Given the description of an element on the screen output the (x, y) to click on. 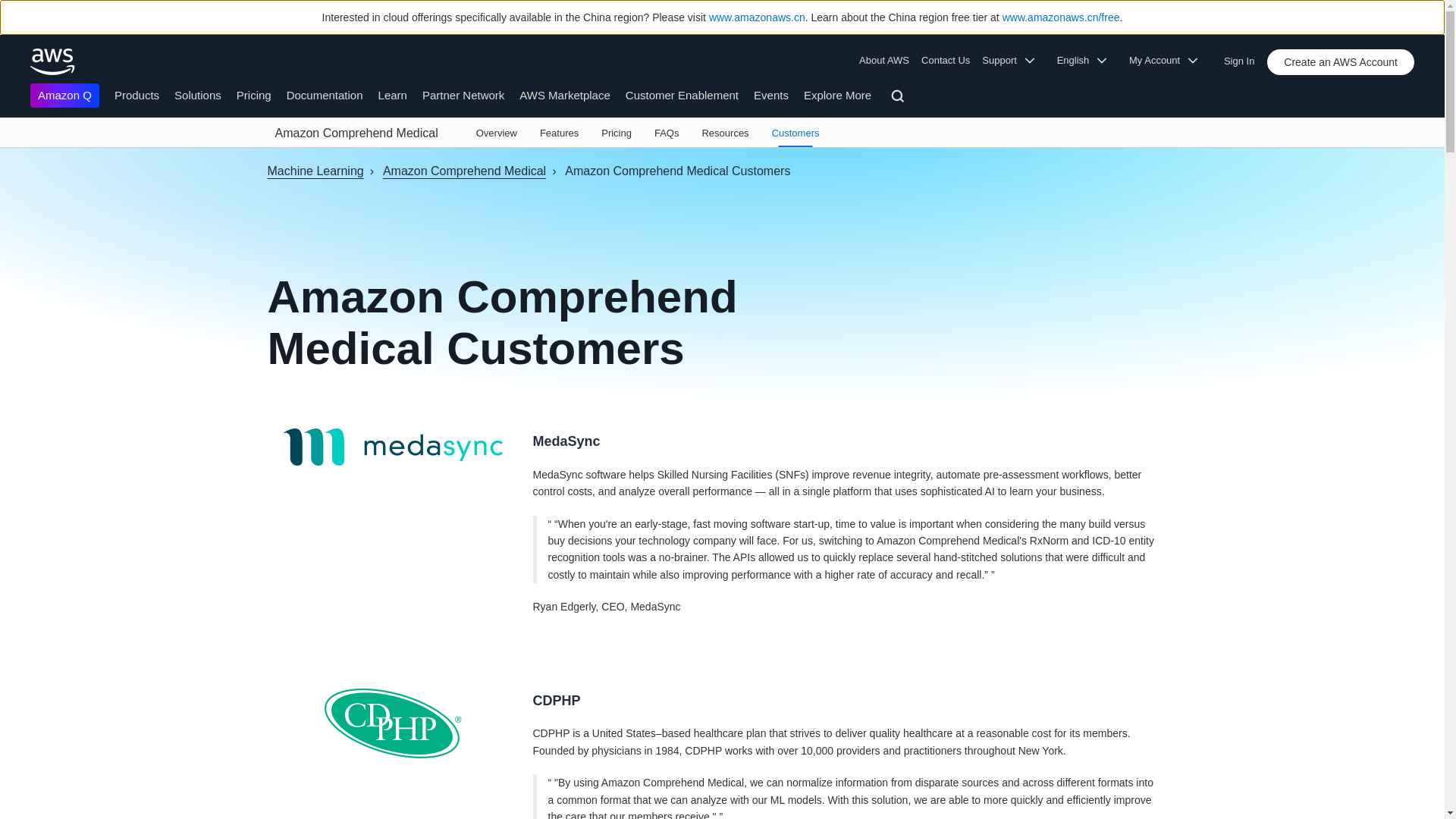
Customer Enablement (682, 94)
Pricing (252, 94)
www.amazonaws.cn (757, 17)
Skip to main content (7, 153)
Contact Us (945, 60)
Solutions (197, 94)
Events (771, 94)
Explore More (836, 94)
Support   (1012, 60)
Learn (392, 94)
English   (1086, 60)
My Account   (1168, 60)
Products (136, 94)
Sign In (1243, 58)
Documentation (324, 94)
